Given the description of an element on the screen output the (x, y) to click on. 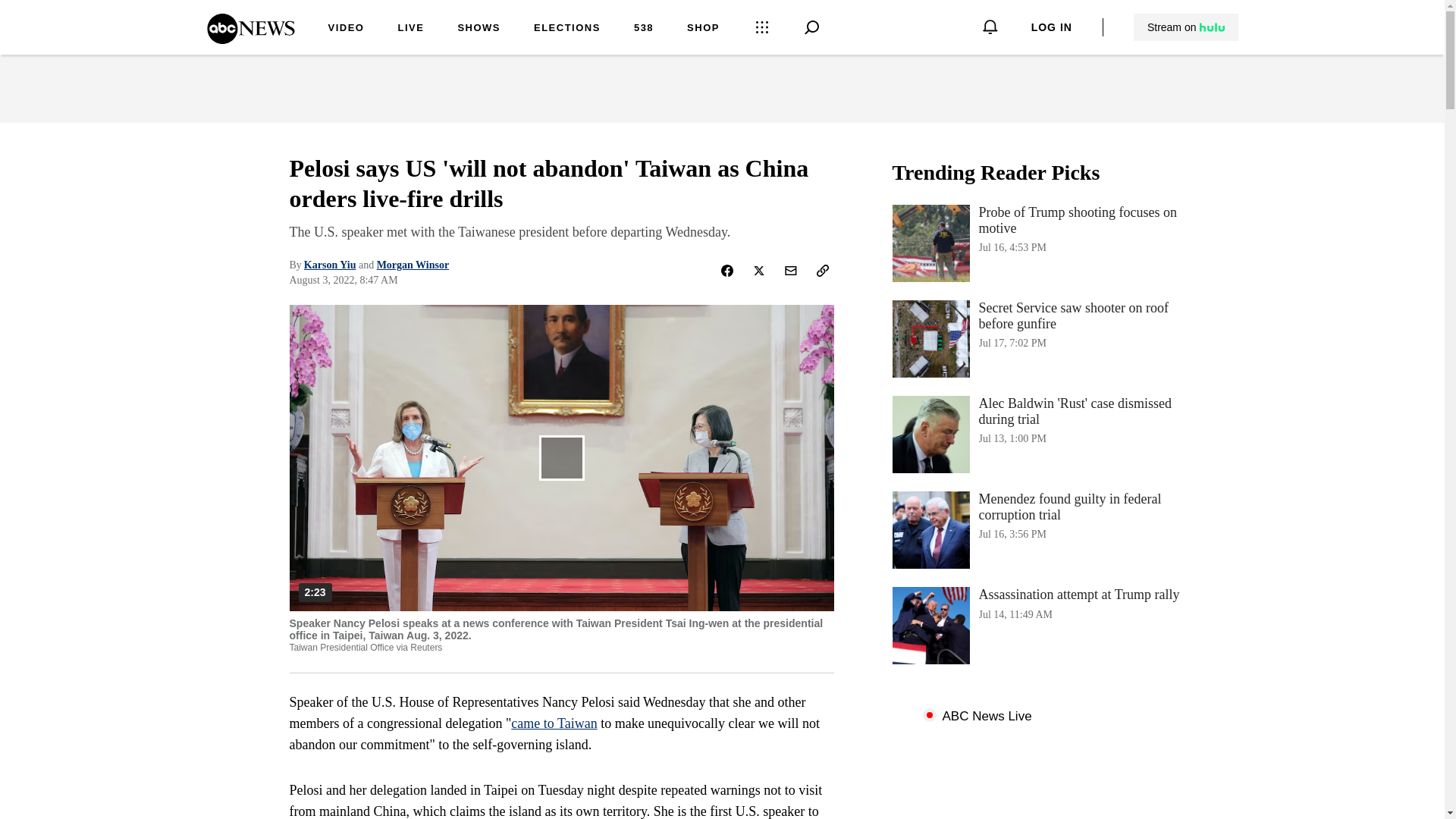
Karson Yiu (330, 265)
Stream on (1043, 625)
Stream on (1043, 242)
ELECTIONS (1185, 27)
Morgan Winsor (1186, 26)
came to (566, 28)
SHOWS (413, 265)
SHOP (534, 723)
LOG IN (478, 28)
VIDEO (703, 28)
